Given the description of an element on the screen output the (x, y) to click on. 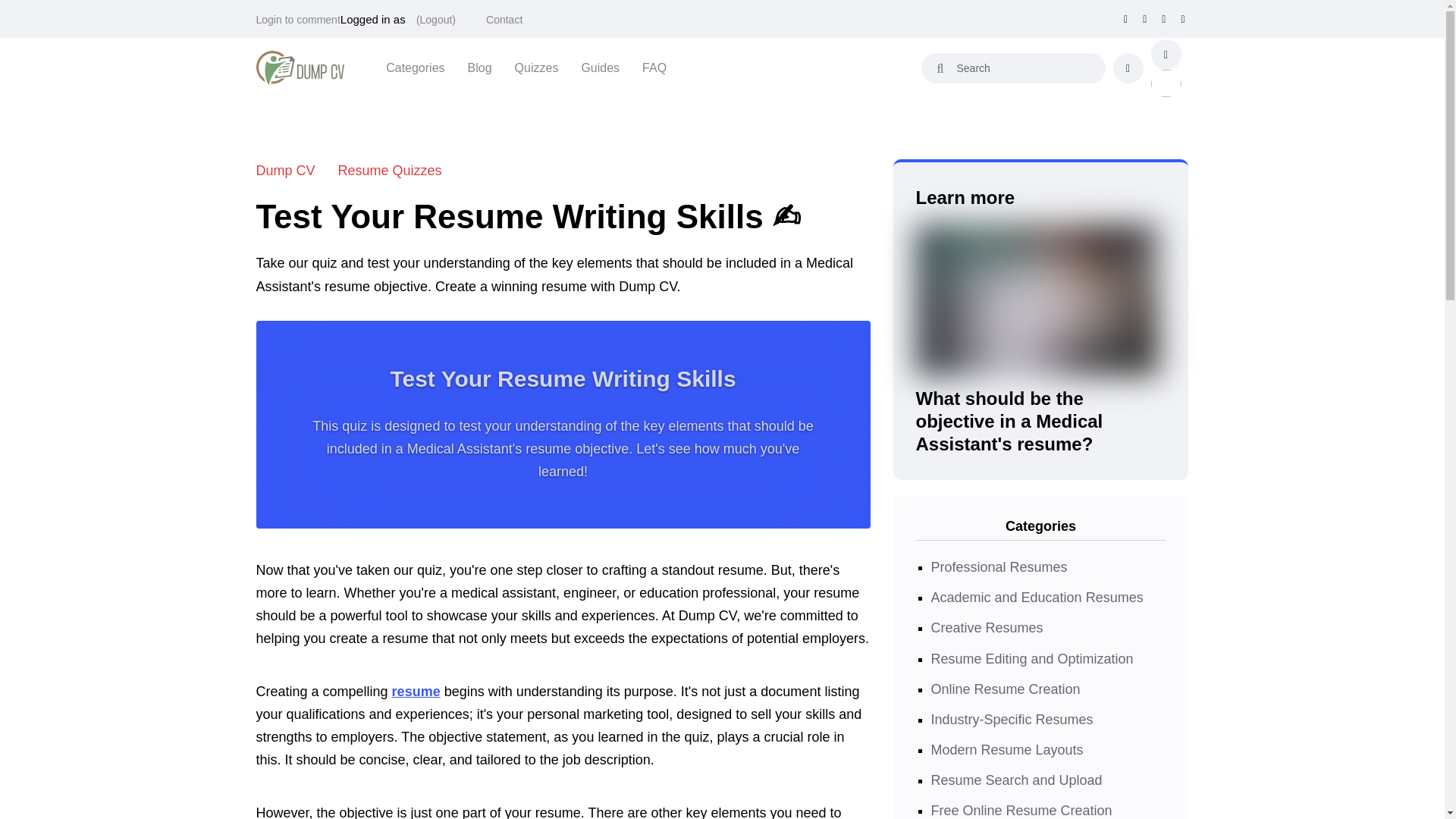
Login to comment (298, 19)
Contact (504, 19)
Categories (414, 67)
